Given the description of an element on the screen output the (x, y) to click on. 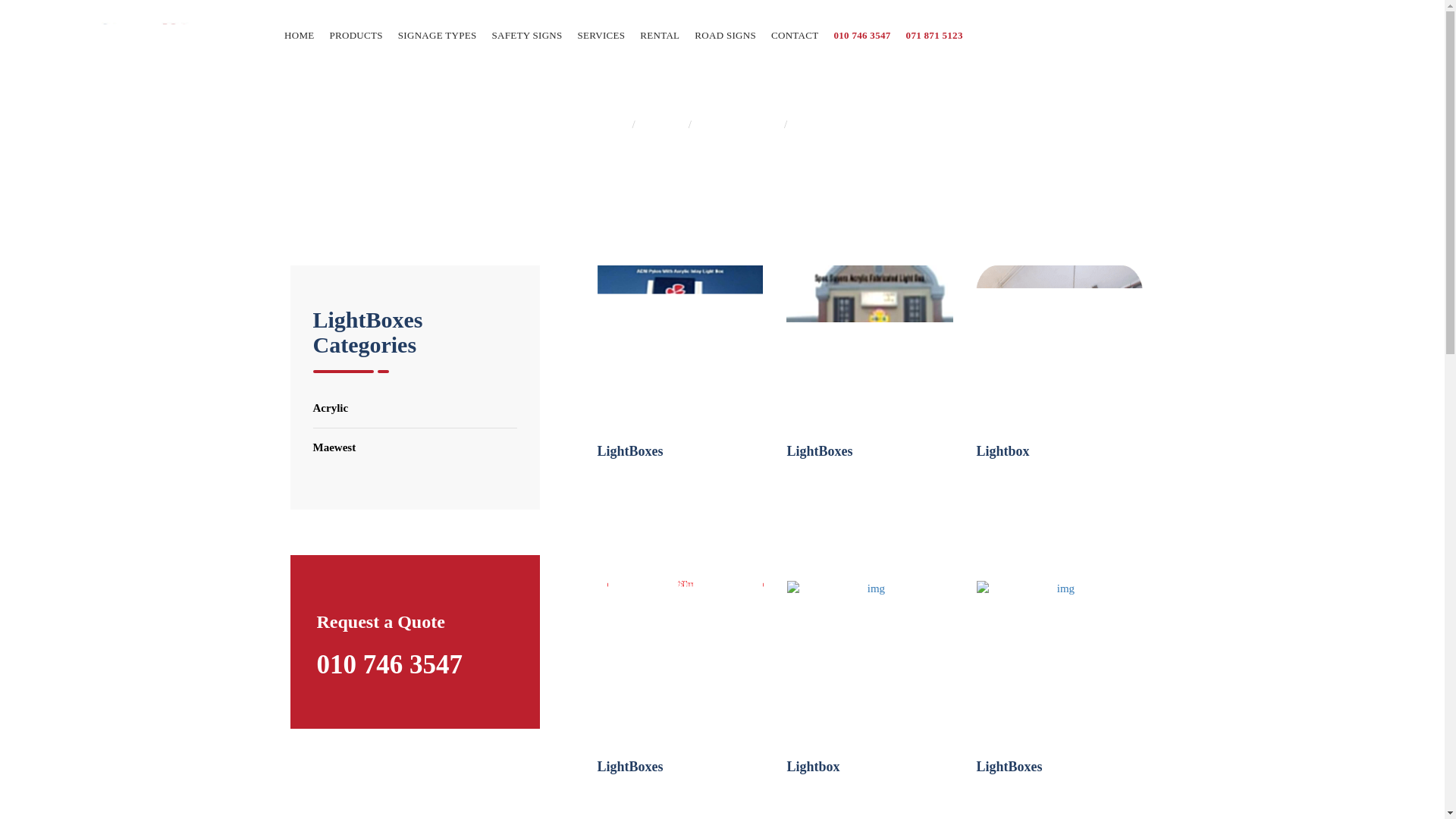
Call us on 071 871 5123 (934, 35)
Call us on 010 746 3547 (861, 35)
PRODUCTS (355, 35)
